Given the description of an element on the screen output the (x, y) to click on. 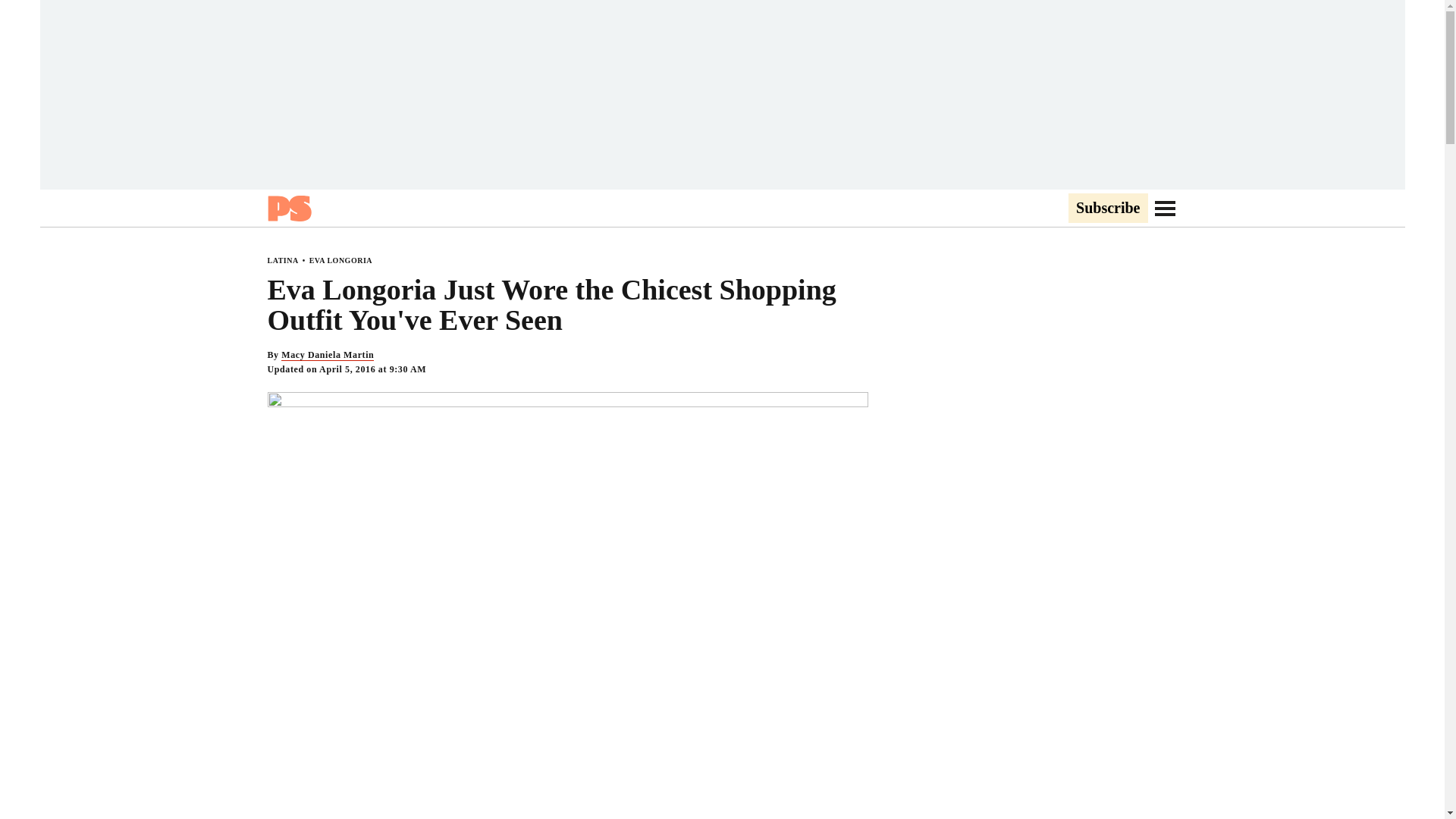
Macy Daniela Martin (327, 355)
Go to Navigation (1164, 207)
EVA LONGORIA (340, 260)
Subscribe (1107, 208)
Go to Navigation (1164, 207)
LATINA (282, 260)
Popsugar (288, 208)
